Given the description of an element on the screen output the (x, y) to click on. 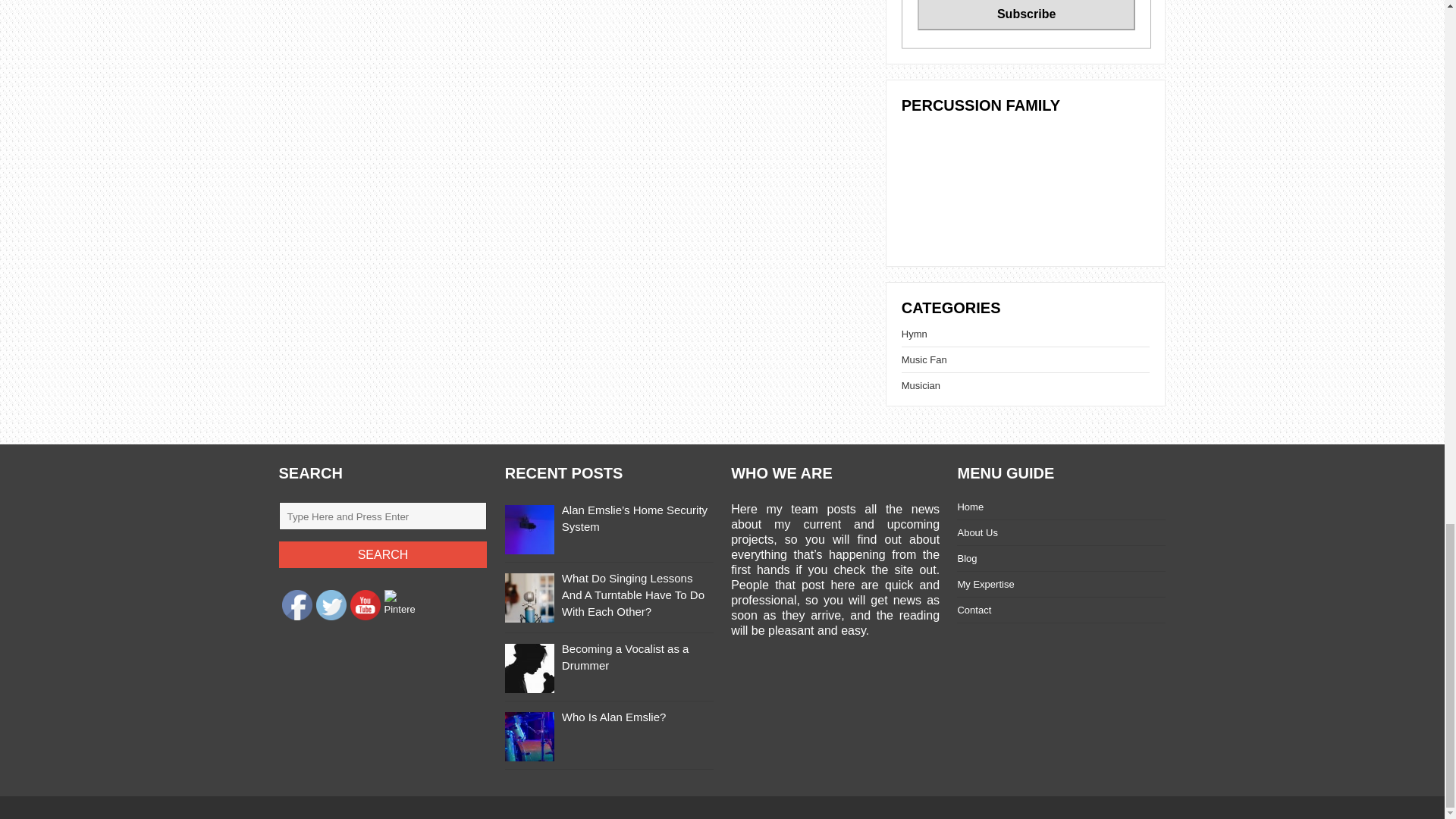
Twitter (330, 604)
Who Is Alan Emslie? (614, 716)
Hymn (914, 333)
Search (383, 554)
Facebook (297, 604)
Subscribe (1026, 15)
Search (383, 554)
Subscribe (1026, 15)
Search (383, 554)
Music Fan (924, 359)
Pinterest (398, 603)
Becoming a Vocalist as a Drummer (625, 656)
Musician (920, 385)
